Given the description of an element on the screen output the (x, y) to click on. 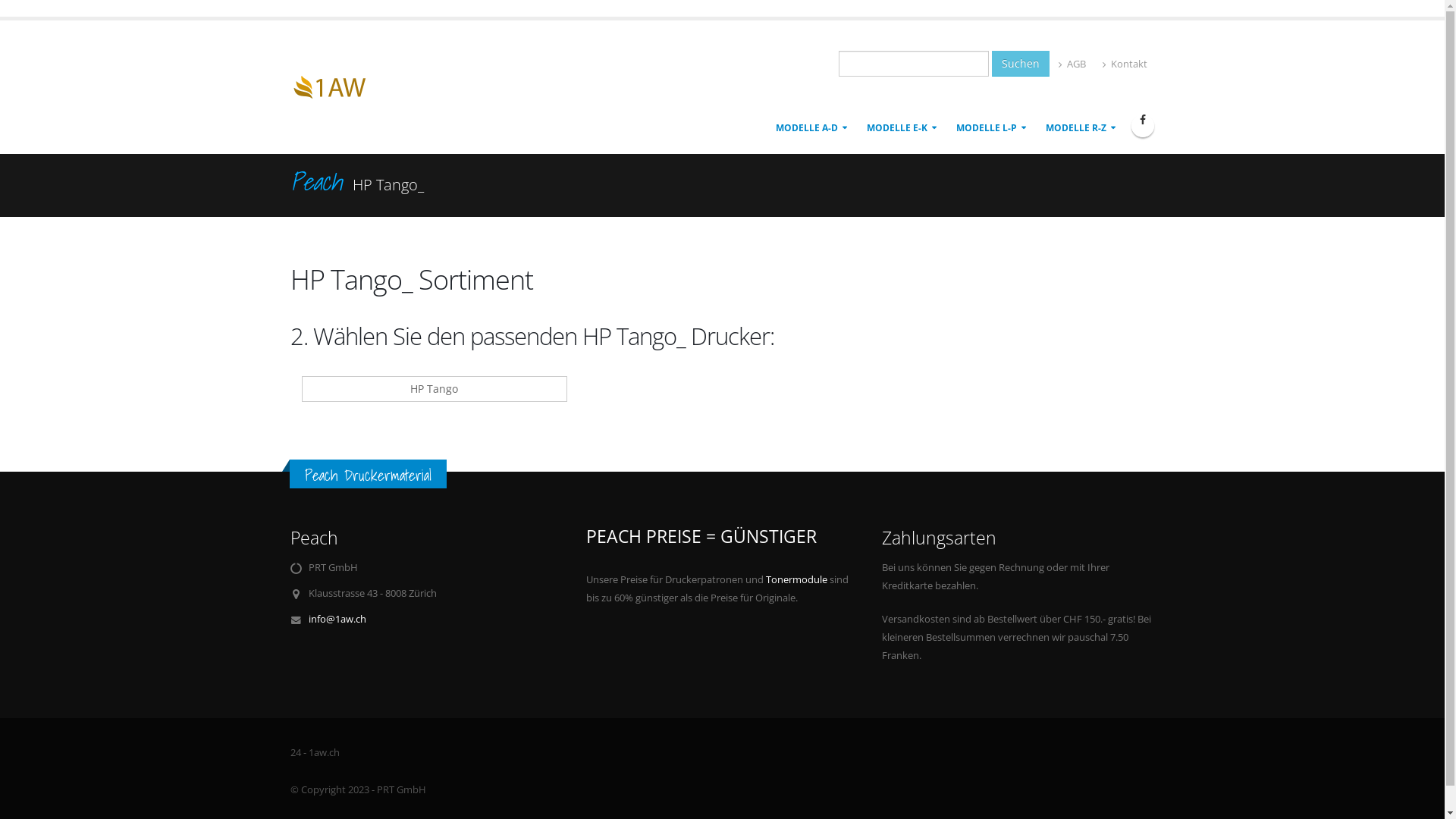
Suchen Element type: text (1020, 63)
MODELLE L-P Element type: text (990, 127)
Tonermodule Element type: text (796, 579)
Versand Element type: hover (337, 85)
Kontakt Element type: text (1124, 64)
MODELLE E-K Element type: text (900, 127)
MODELLE R-Z Element type: text (1079, 127)
Facebook Element type: hover (1142, 125)
MODELLE A-D Element type: text (810, 127)
AGB Element type: text (1072, 64)
HP Tango Element type: text (434, 388)
info@1aw.ch Element type: text (336, 618)
